Given the description of an element on the screen output the (x, y) to click on. 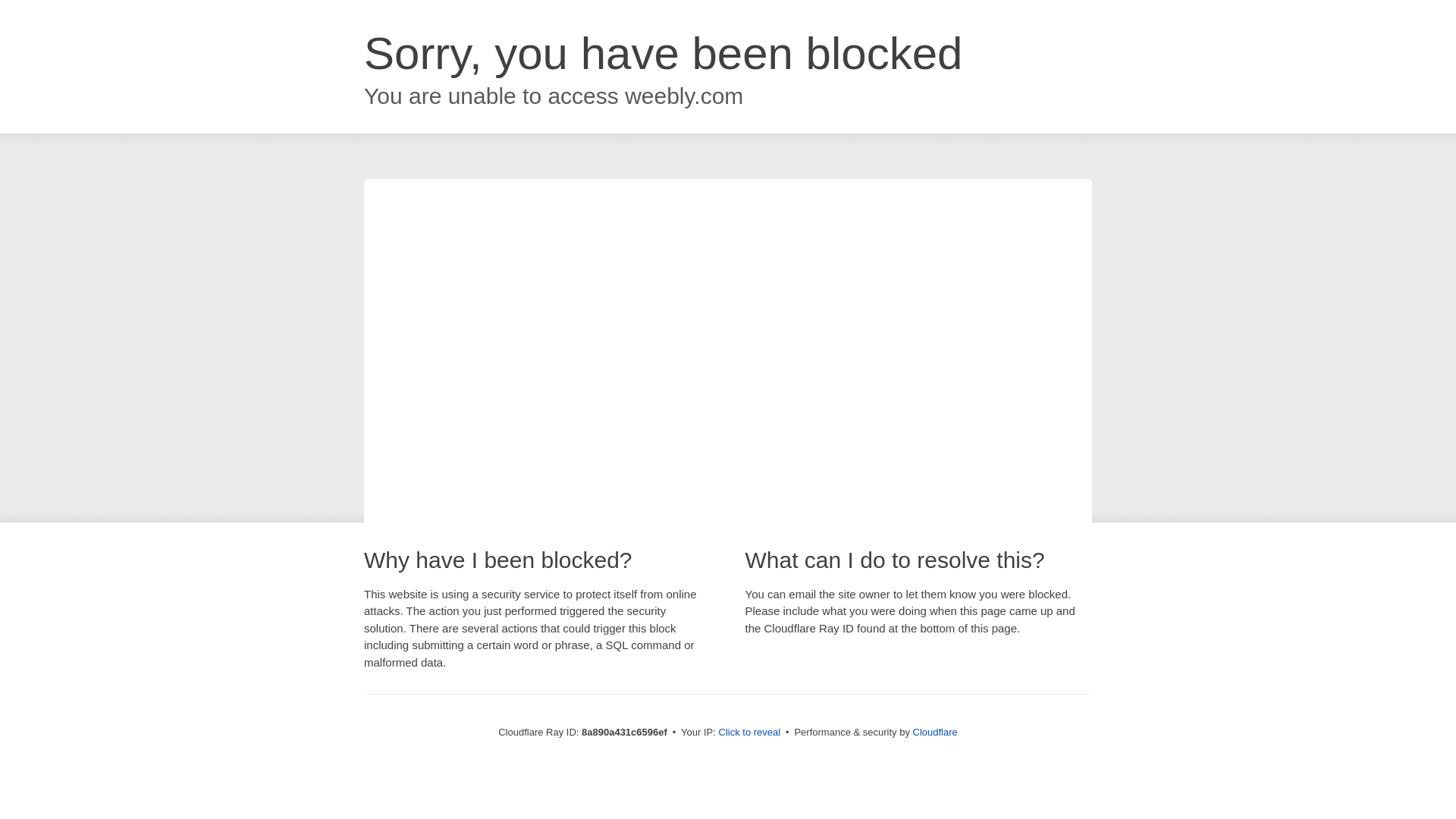
Cloudflare (935, 731)
Click to reveal (749, 732)
